Given the description of an element on the screen output the (x, y) to click on. 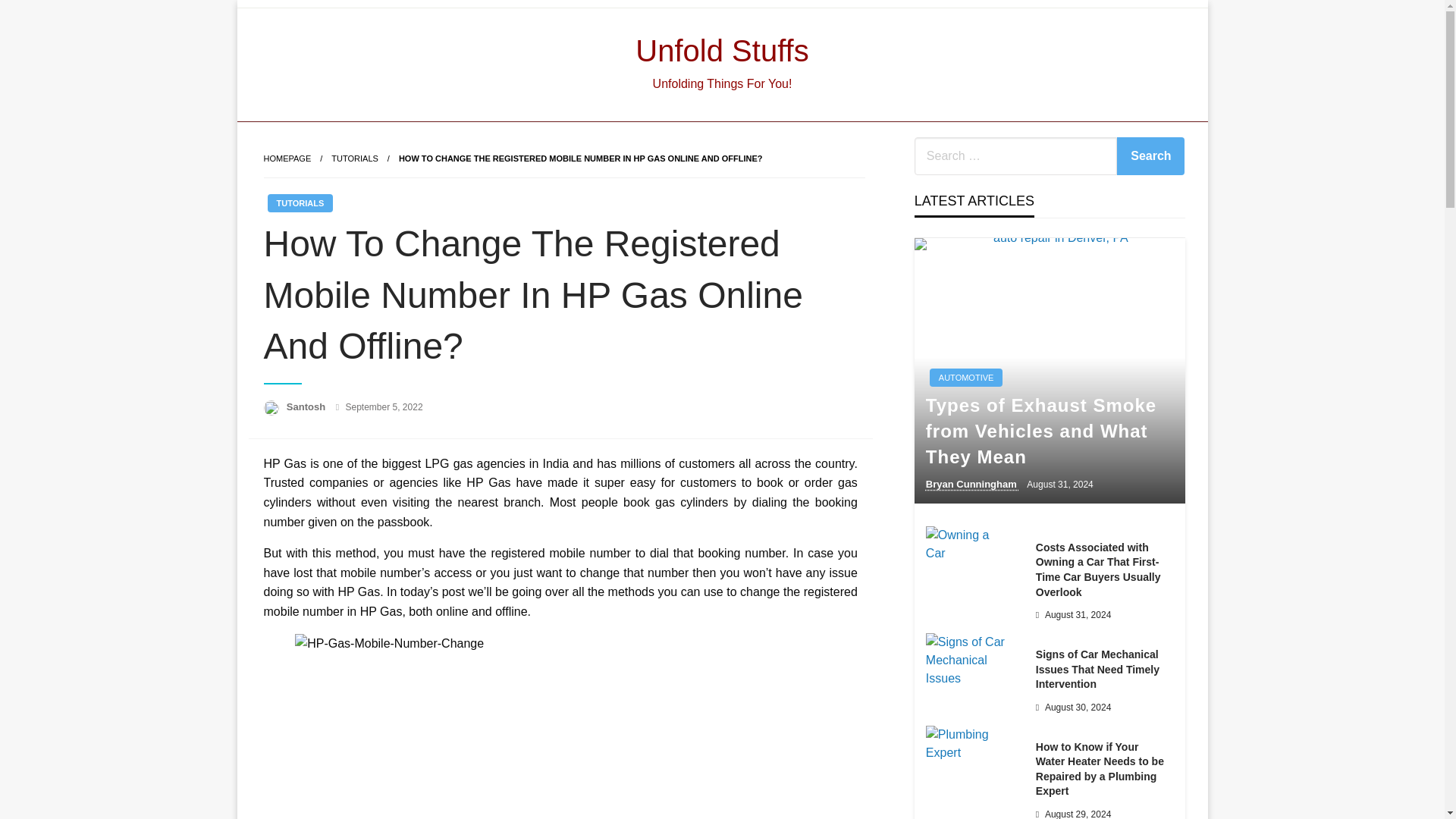
Search (1150, 156)
Santosh (307, 406)
Tutorials (354, 157)
Unfold Stuffs (721, 50)
Homepage (287, 157)
Search (1150, 156)
